Given the description of an element on the screen output the (x, y) to click on. 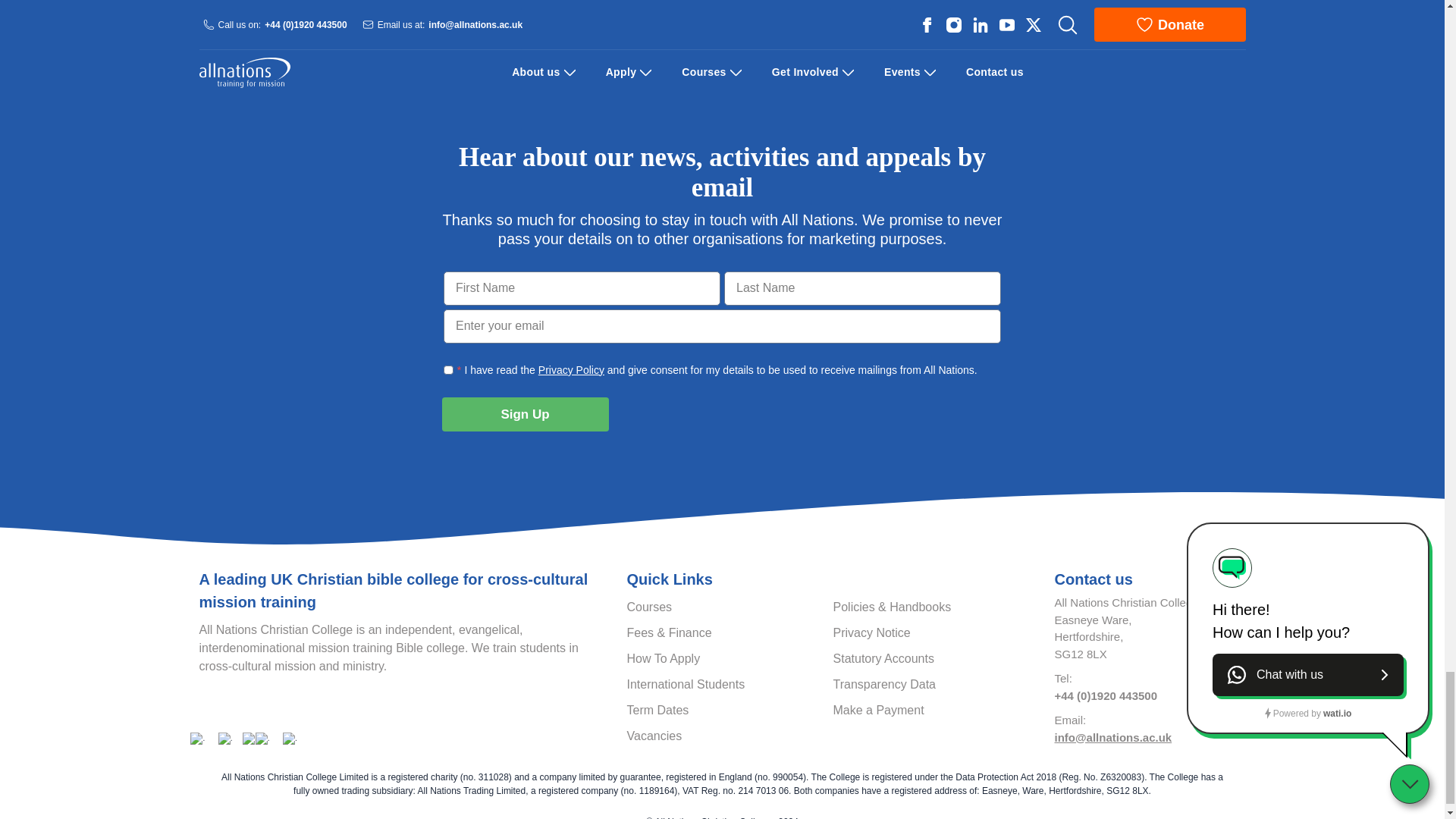
on (448, 370)
